Given the description of an element on the screen output the (x, y) to click on. 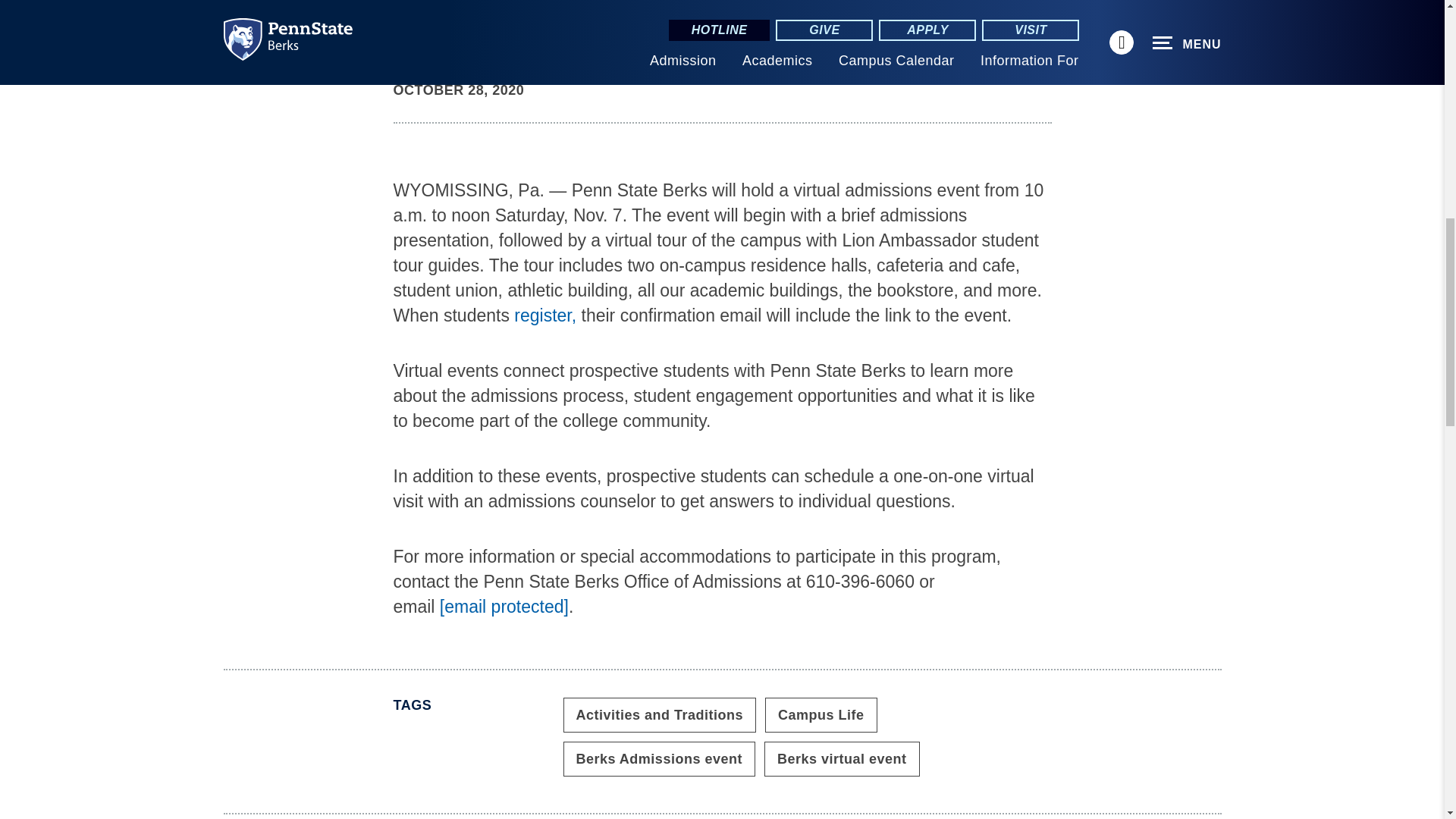
Content tagged with Berks virtual event (842, 759)
Content tagged with Activities and Traditions (658, 714)
Content tagged with Berks Admissions event (658, 759)
Content tagged with Campus Life (821, 714)
